Given the description of an element on the screen output the (x, y) to click on. 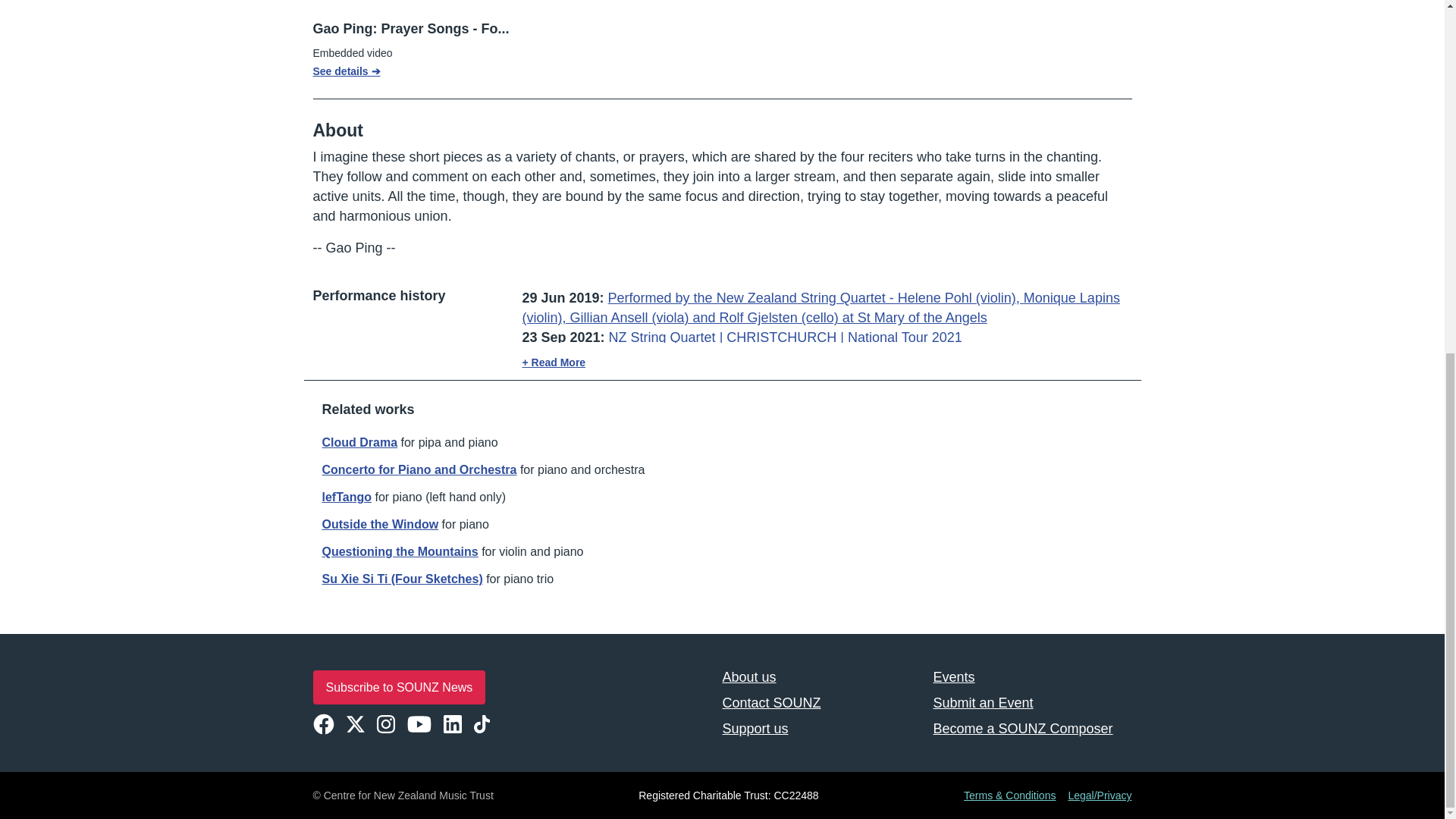
lefTango (346, 496)
Questioning the Mountains (399, 551)
Cloud Drama (359, 441)
Concerto for Piano and Orchestra (418, 469)
Outside the Window (379, 523)
Subscribe to SOUNZ News (398, 687)
